Given the description of an element on the screen output the (x, y) to click on. 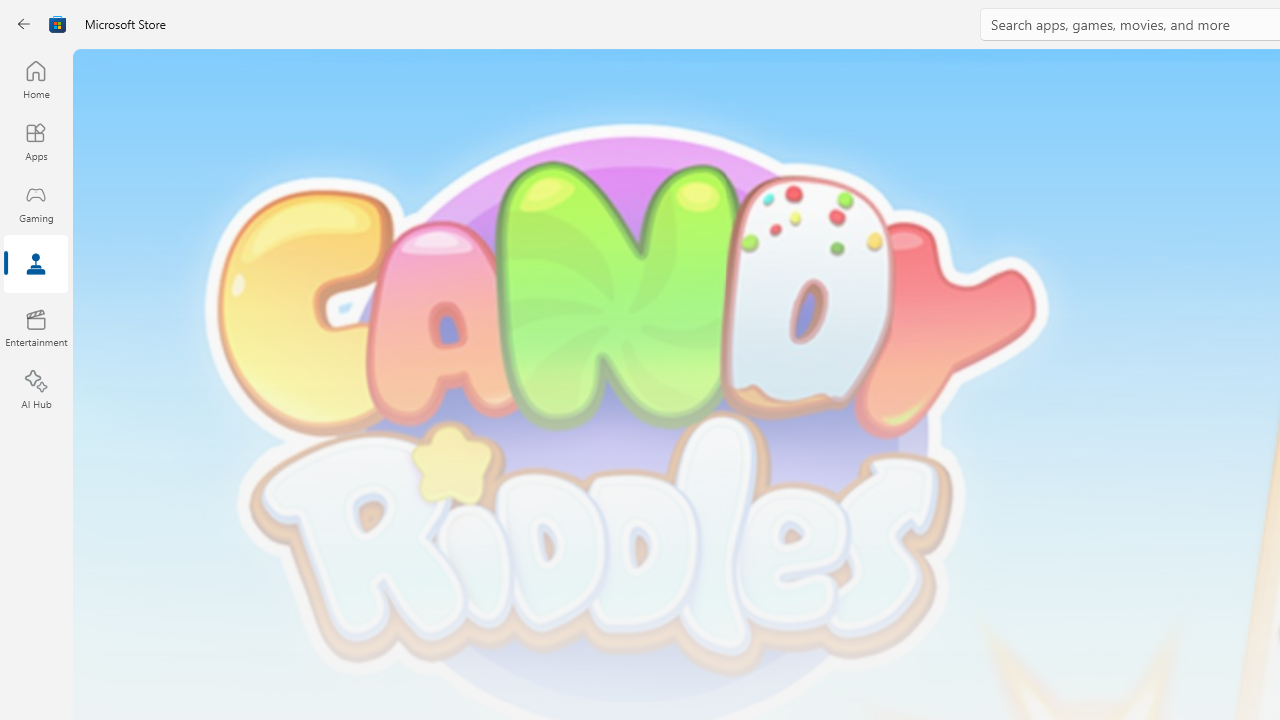
Back (24, 24)
